Given the description of an element on the screen output the (x, y) to click on. 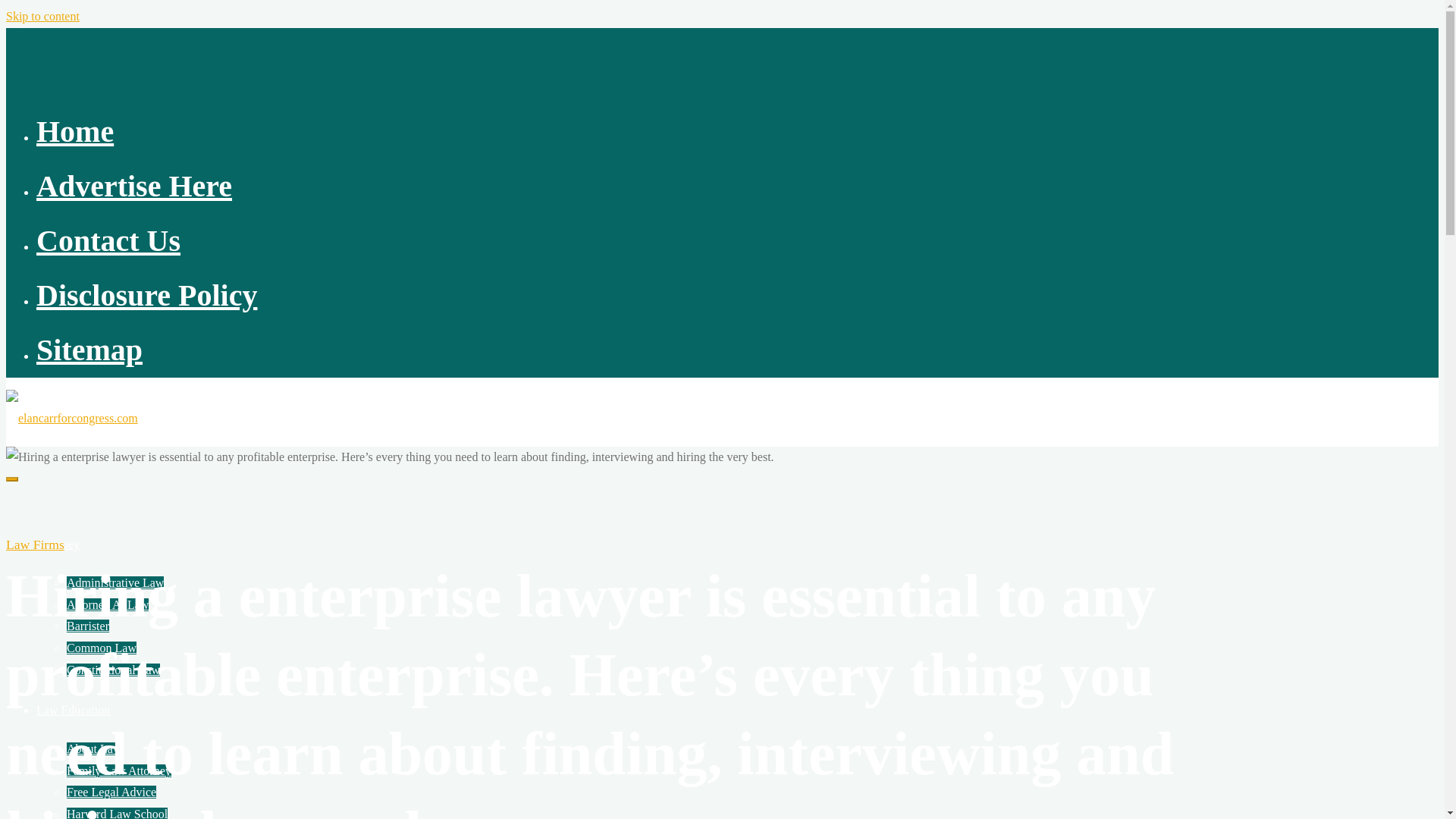
Administrative Law (114, 582)
Contact Us (108, 240)
elancarrforcongress.com (71, 418)
Common Law (101, 647)
Law Firms (34, 544)
Attorney (58, 543)
Skip to content (42, 15)
Barrister (87, 625)
Disclosure Policy (146, 295)
Advertise Here (133, 185)
About Law (93, 748)
Harvard Law School (116, 813)
Home (74, 131)
Attorney At Law (107, 604)
Family Law Attorney (118, 770)
